Given the description of an element on the screen output the (x, y) to click on. 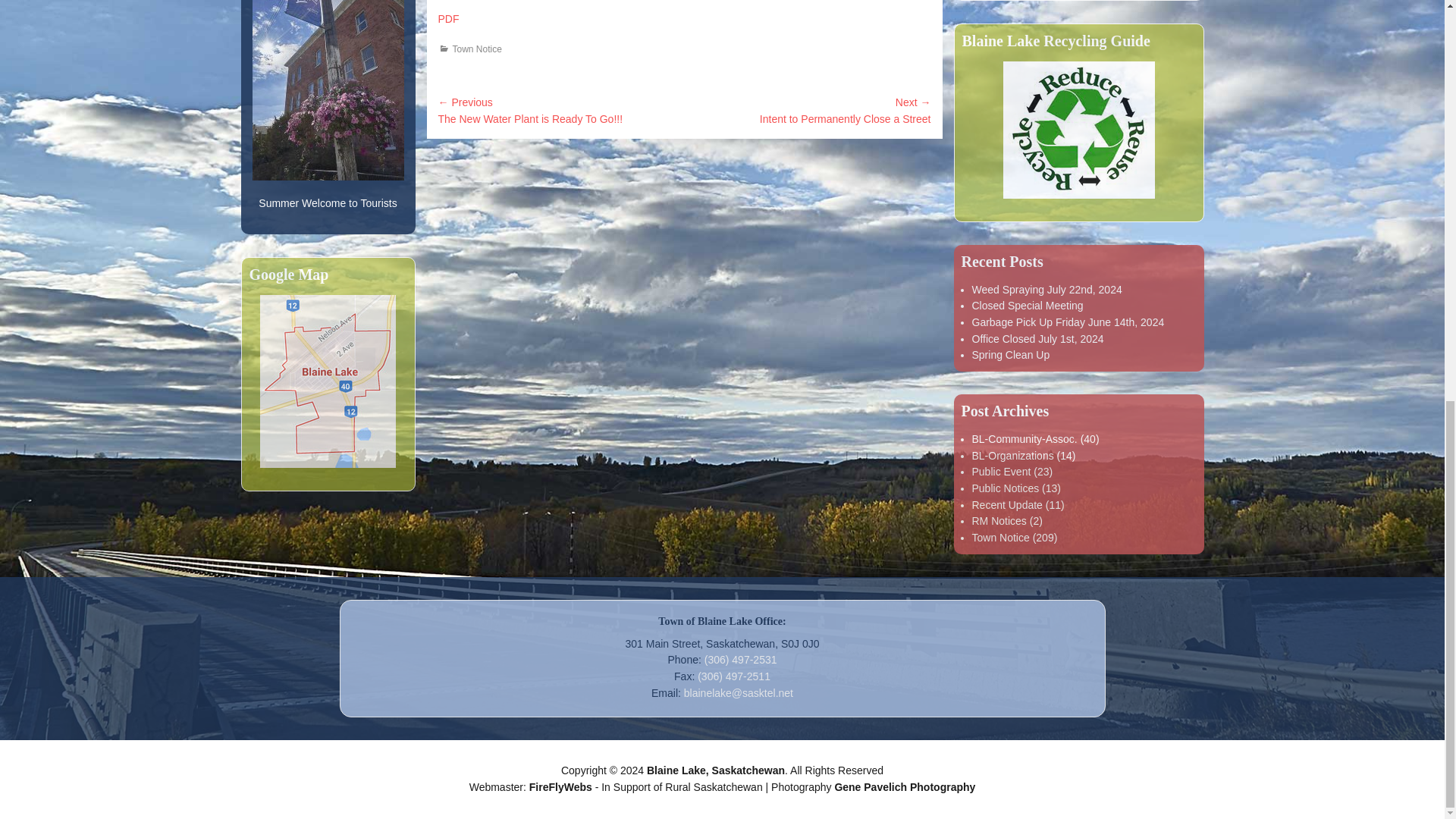
Blaine Lake Recycling Guide (1077, 130)
Google Map (327, 380)
